Given the description of an element on the screen output the (x, y) to click on. 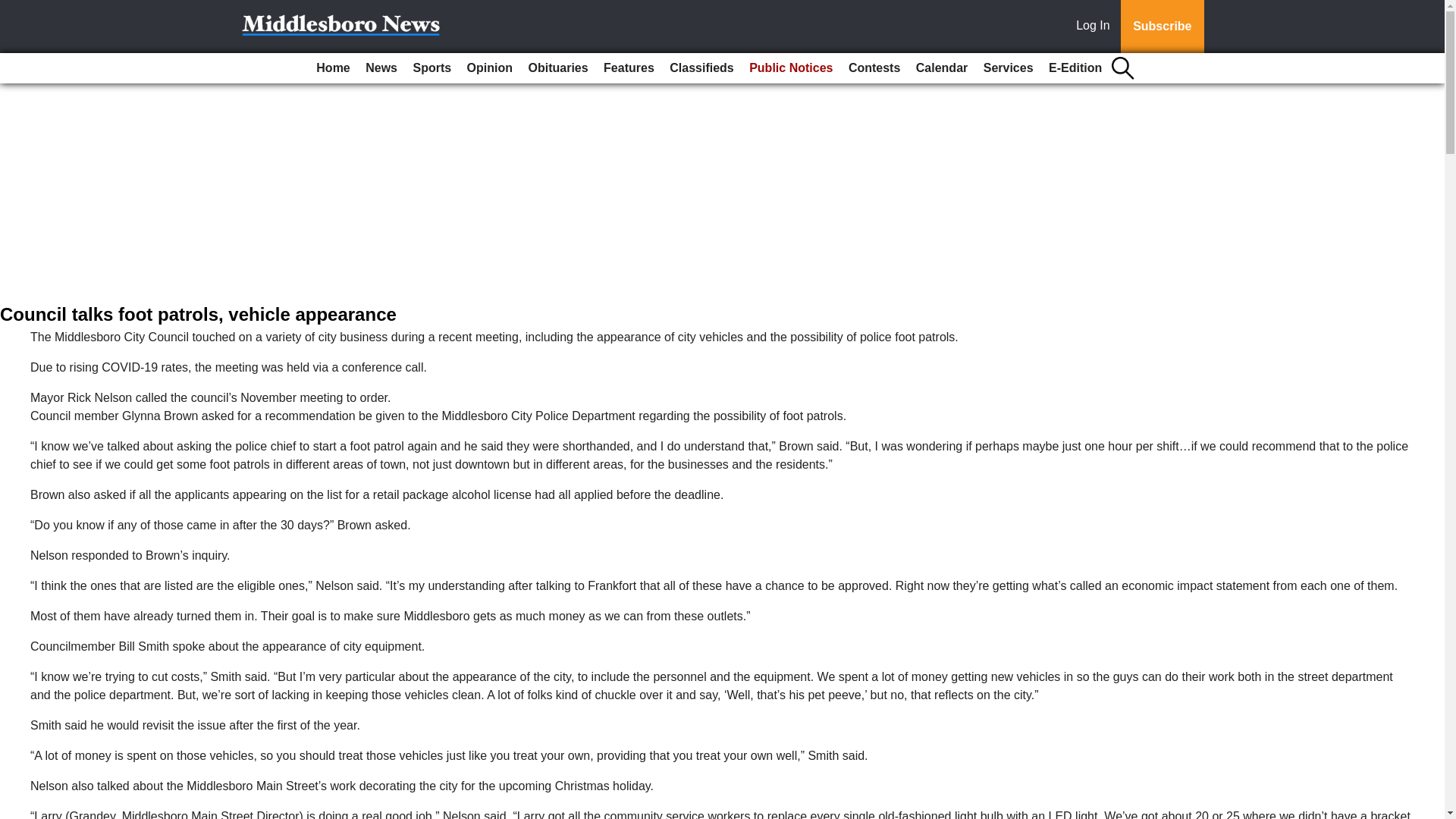
Calendar (942, 68)
Features (628, 68)
News (381, 68)
Sports (431, 68)
Classifieds (701, 68)
Obituaries (557, 68)
Opinion (489, 68)
Home (332, 68)
Log In (1095, 26)
Public Notices (790, 68)
